Given the description of an element on the screen output the (x, y) to click on. 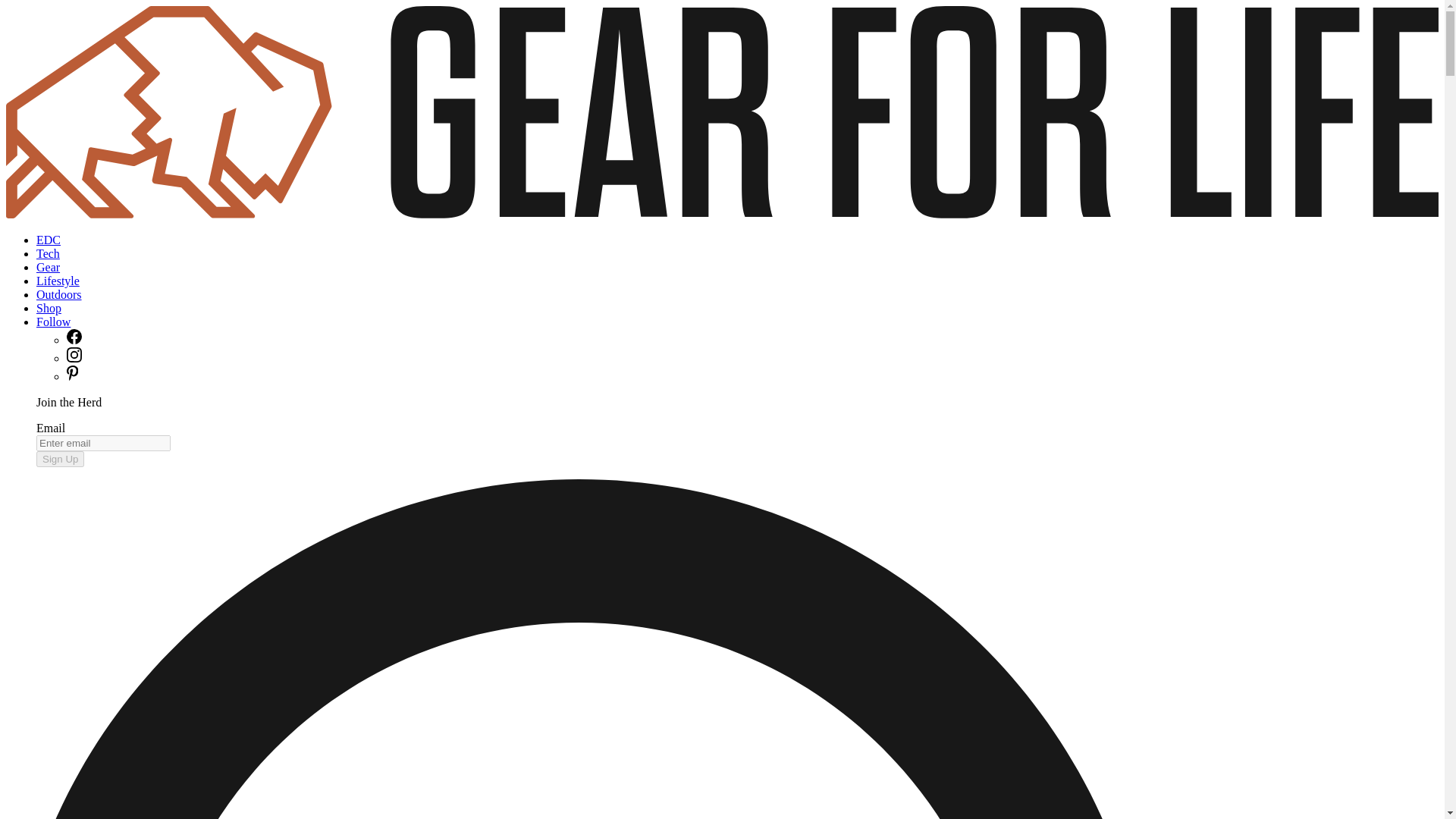
EDC (48, 239)
Gear (47, 267)
Tech (47, 253)
Sign Up (60, 458)
Shop (48, 308)
Follow (52, 321)
Lifestyle (58, 280)
Outdoors (58, 294)
